Given the description of an element on the screen output the (x, y) to click on. 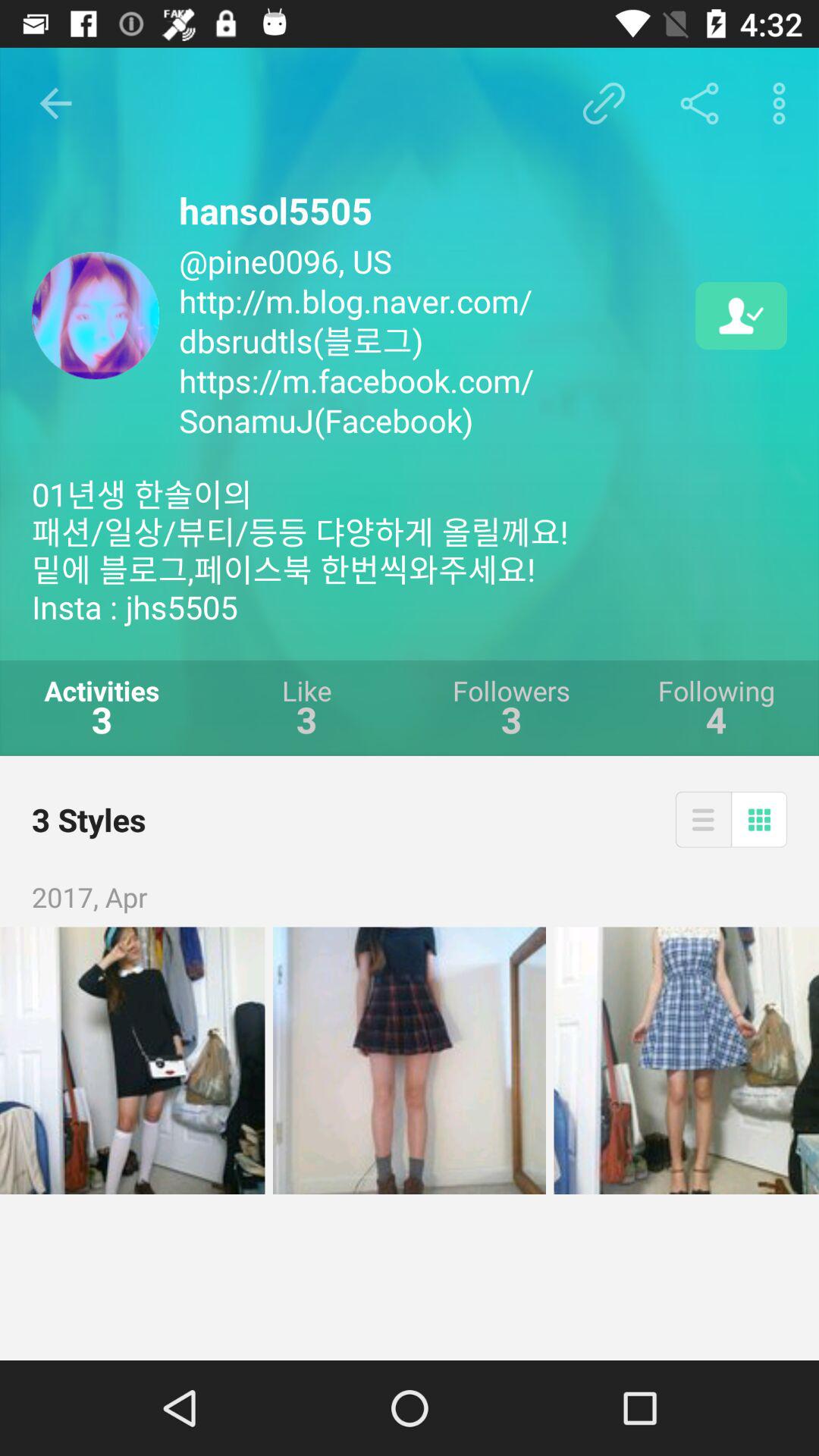
press item to the right of the pine0096 us http (741, 315)
